Given the description of an element on the screen output the (x, y) to click on. 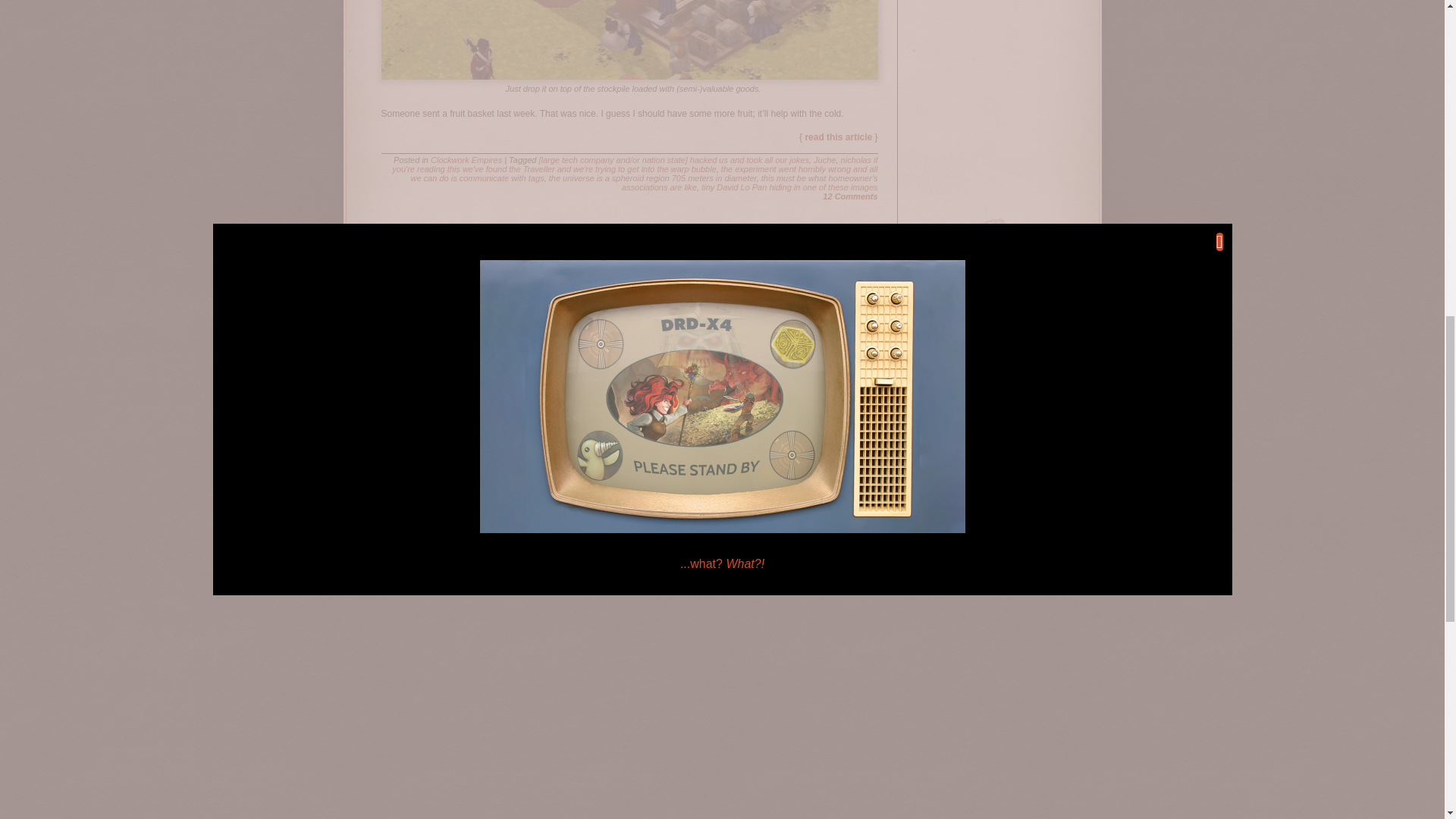
this must be what homeowner's associations are like (749, 182)
HOME (534, 441)
Clockwork Empires (466, 159)
read this article (838, 136)
12 Comments (849, 195)
tiny David Lo Pan hiding in one of these images (789, 186)
WEBLOG (589, 441)
Website design by Chestnut St. Pixel Foundry (722, 464)
Juche (824, 159)
the universe is a spheroid region 705 meters in diameter (652, 177)
